Given the description of an element on the screen output the (x, y) to click on. 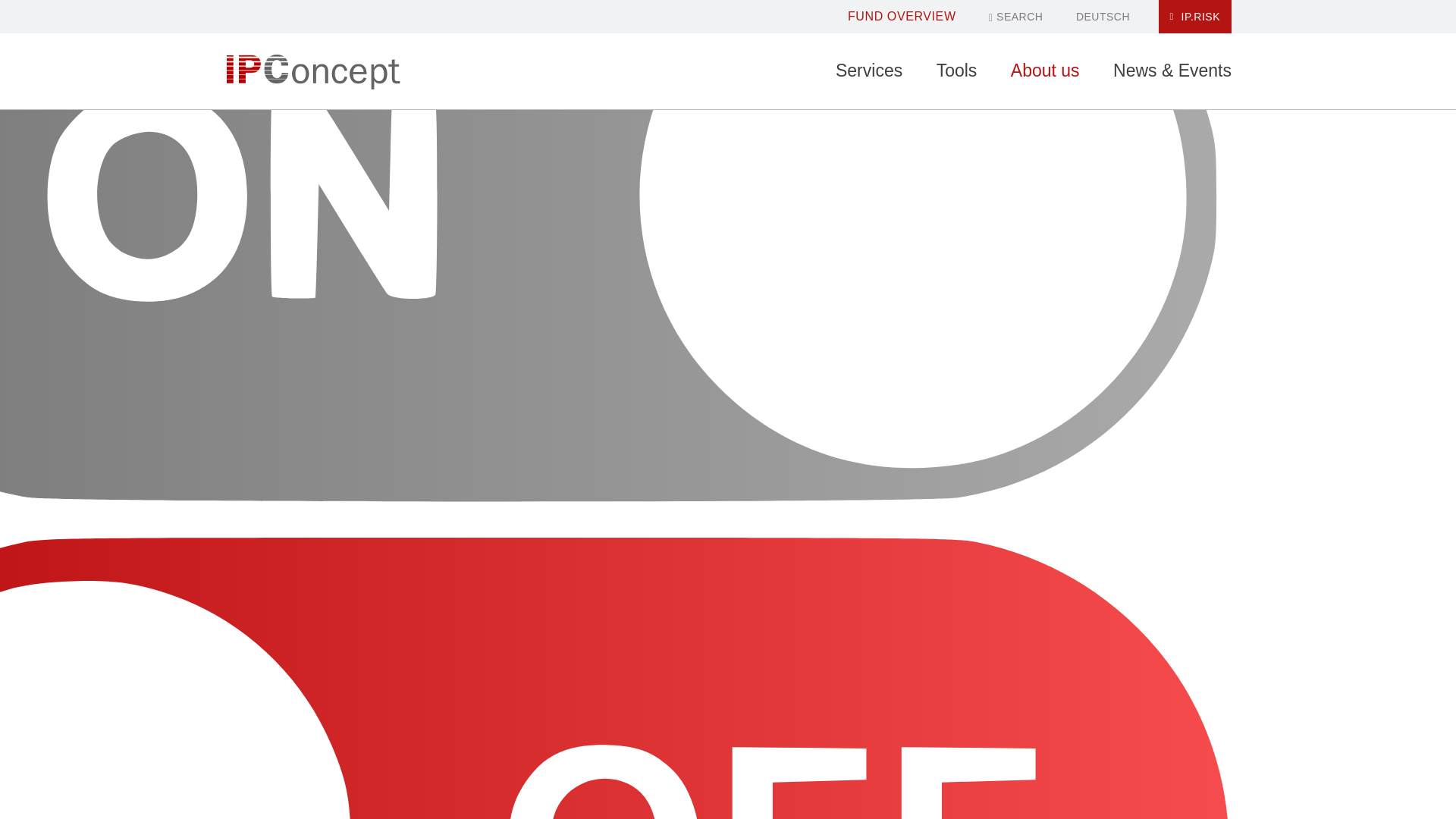
Logo (312, 71)
Fund Overview (901, 15)
FUND OVERVIEW (901, 15)
About us (1045, 70)
IP.RISK (1194, 16)
Change language (1102, 16)
About us (1045, 70)
DEUTSCH (1102, 16)
Weiterleitung zum Login-Bereich (1194, 16)
SEARCH (1015, 17)
